Given the description of an element on the screen output the (x, y) to click on. 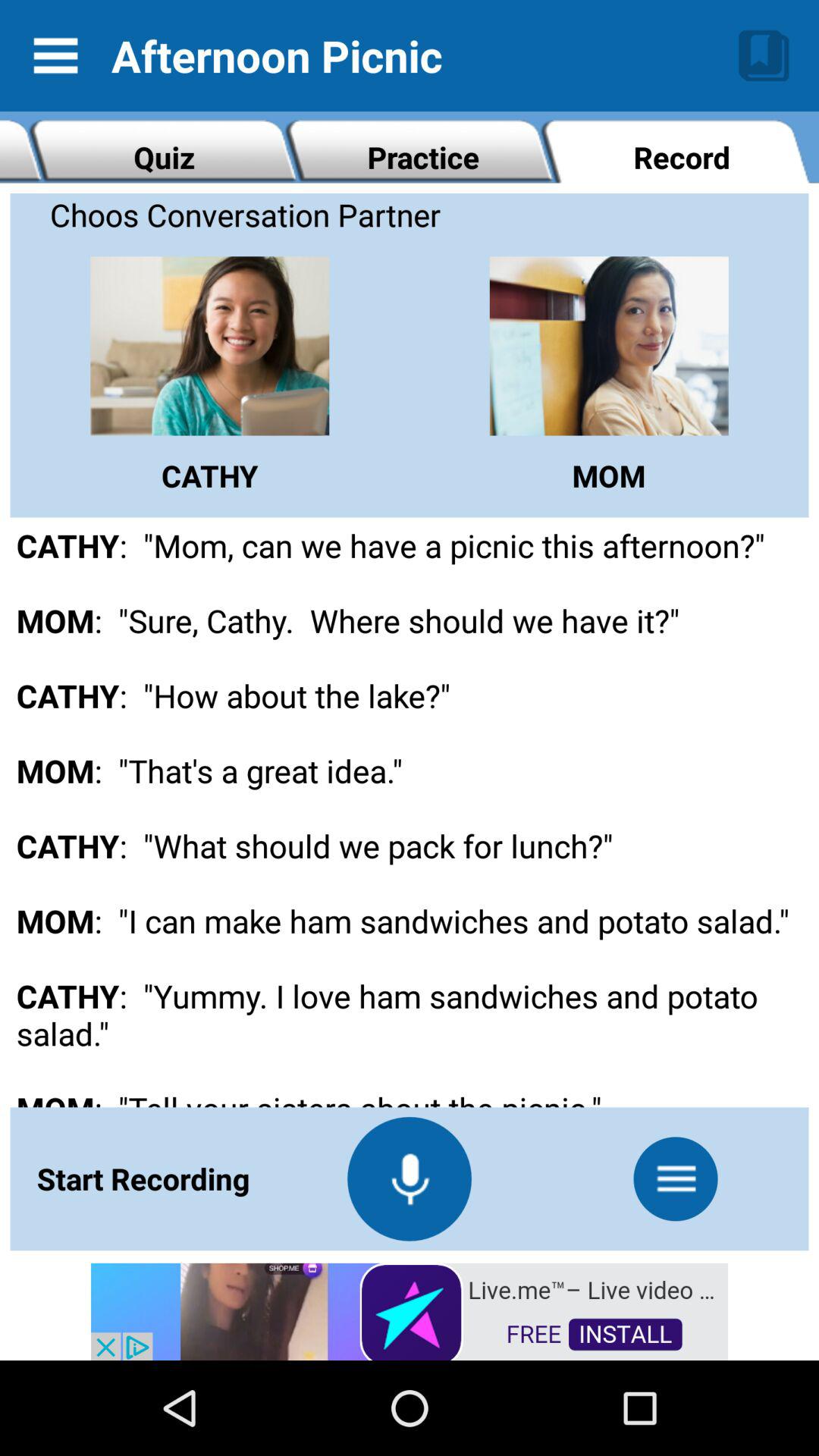
this is an advertisement (409, 1310)
